Given the description of an element on the screen output the (x, y) to click on. 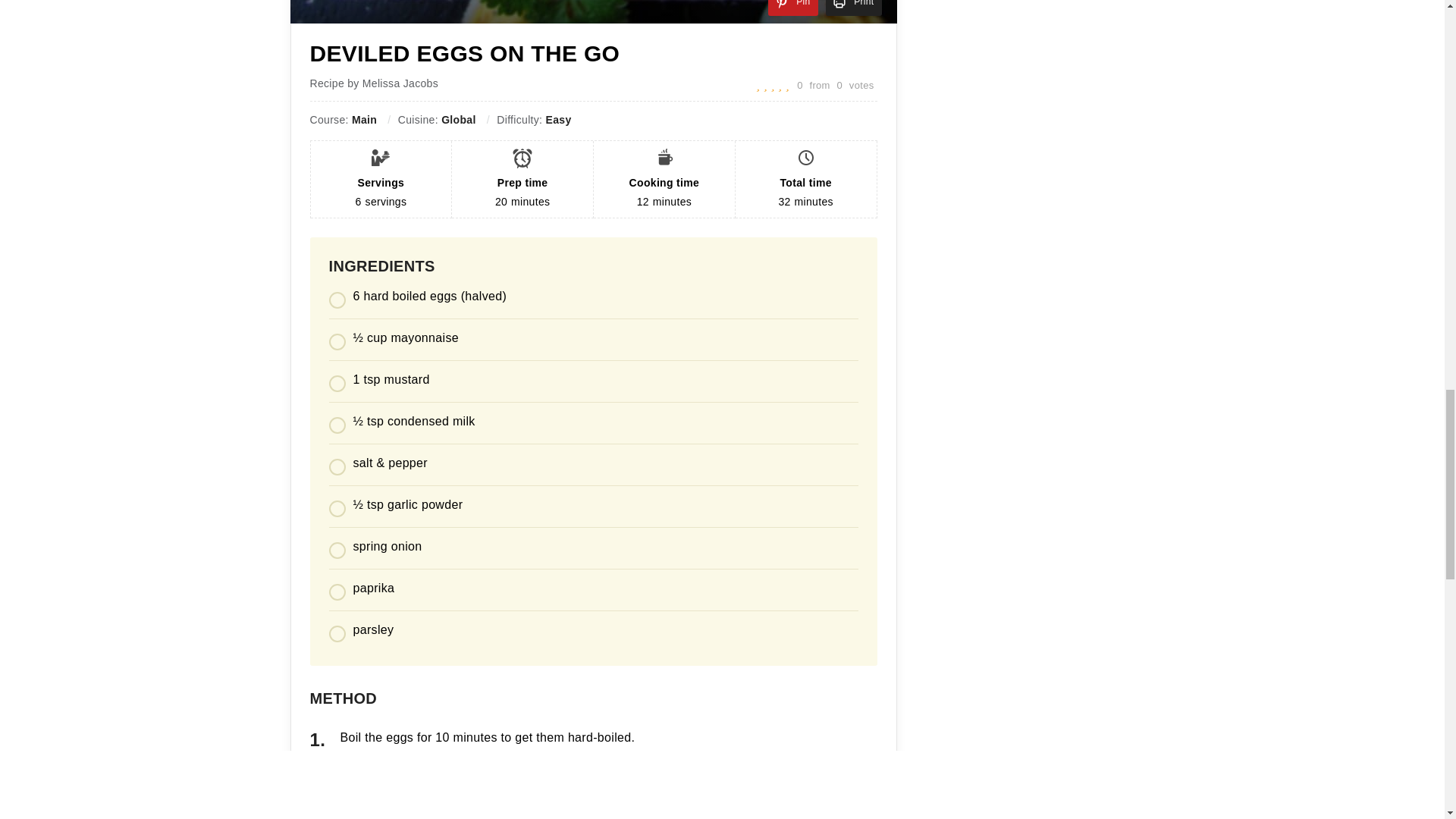
Print directions (853, 7)
